Given the description of an element on the screen output the (x, y) to click on. 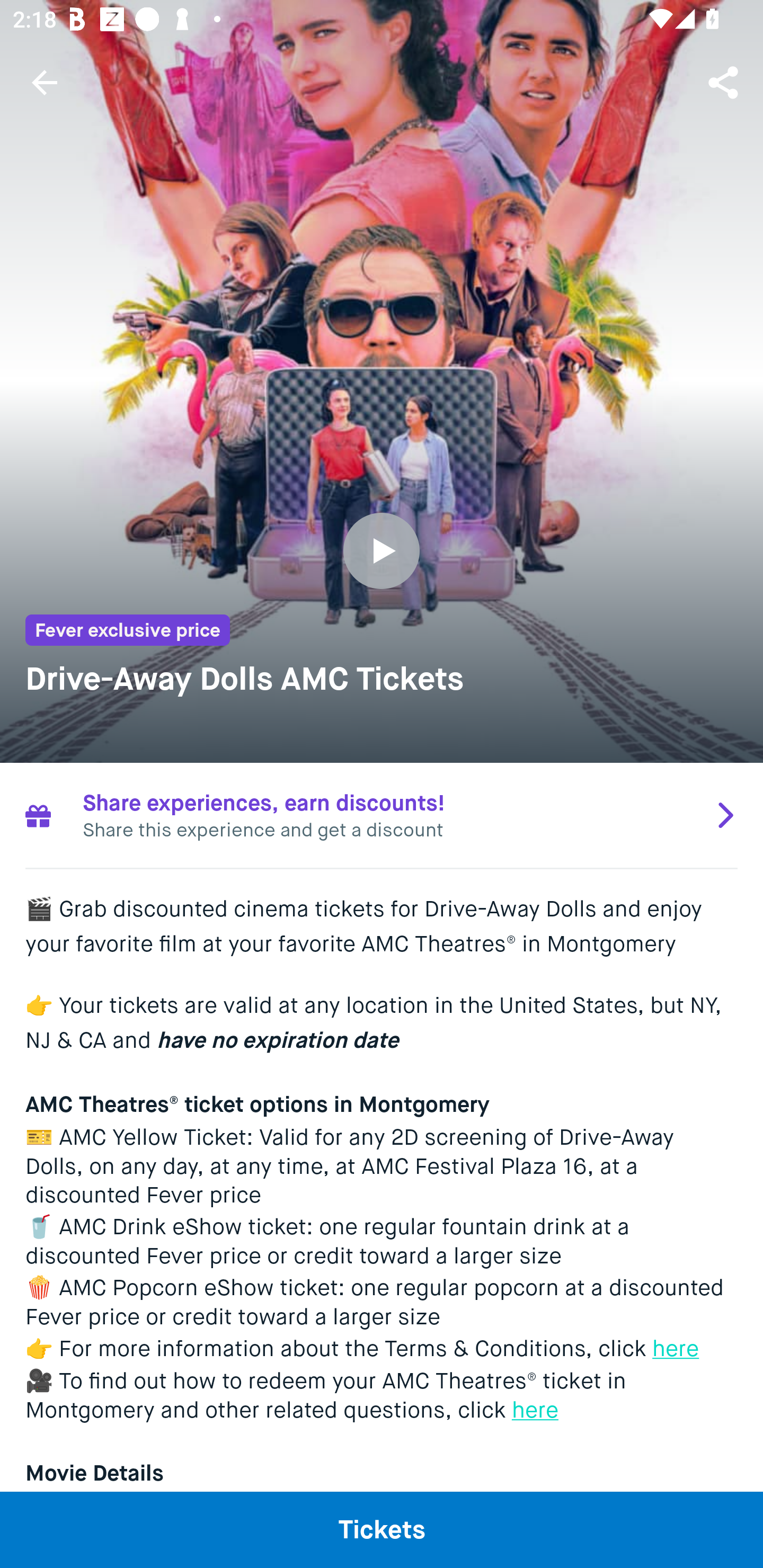
Navigate up (44, 82)
Share (724, 81)
Tickets (381, 1529)
